Given the description of an element on the screen output the (x, y) to click on. 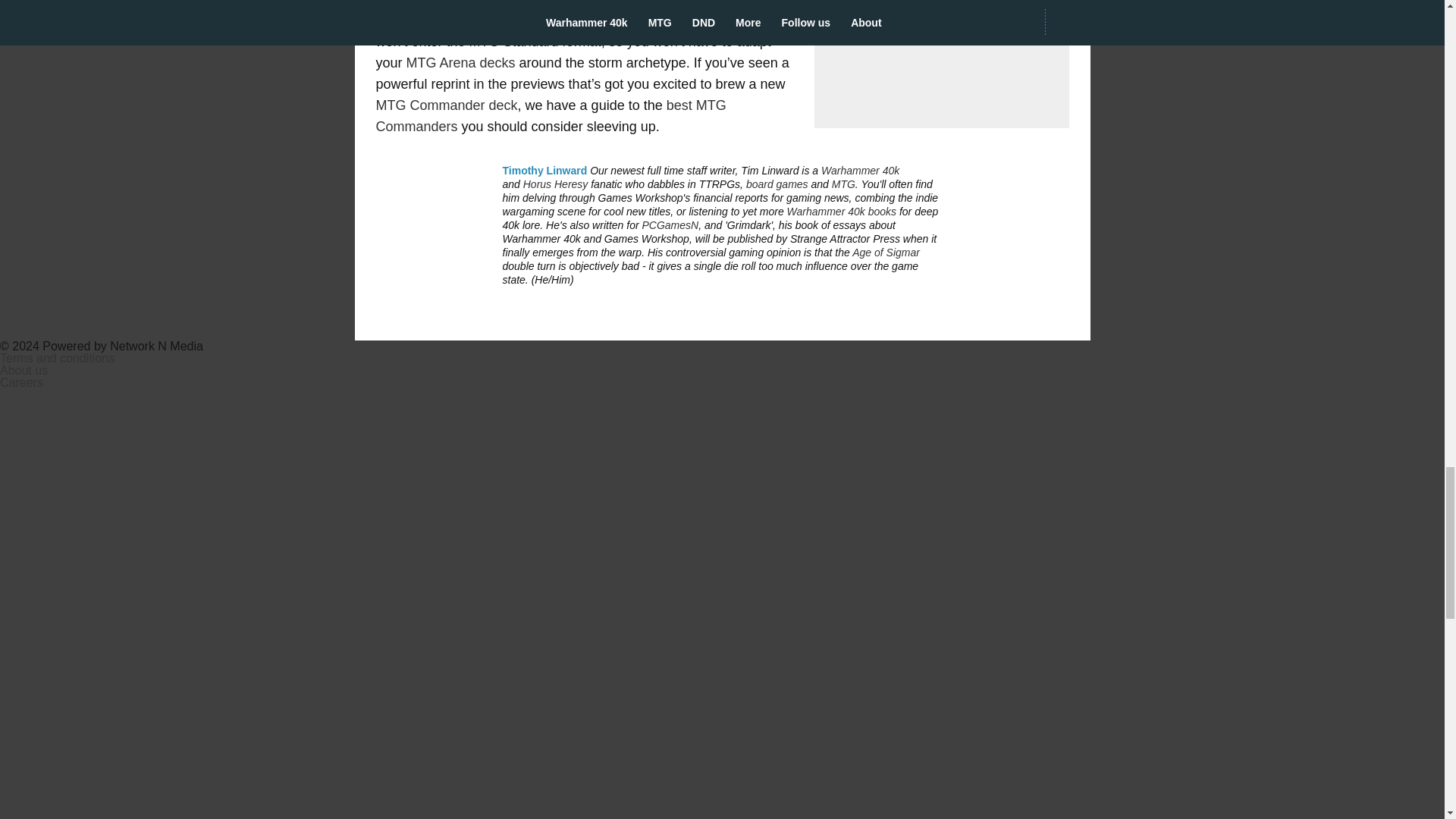
MTG Arena decks (460, 62)
